Given the description of an element on the screen output the (x, y) to click on. 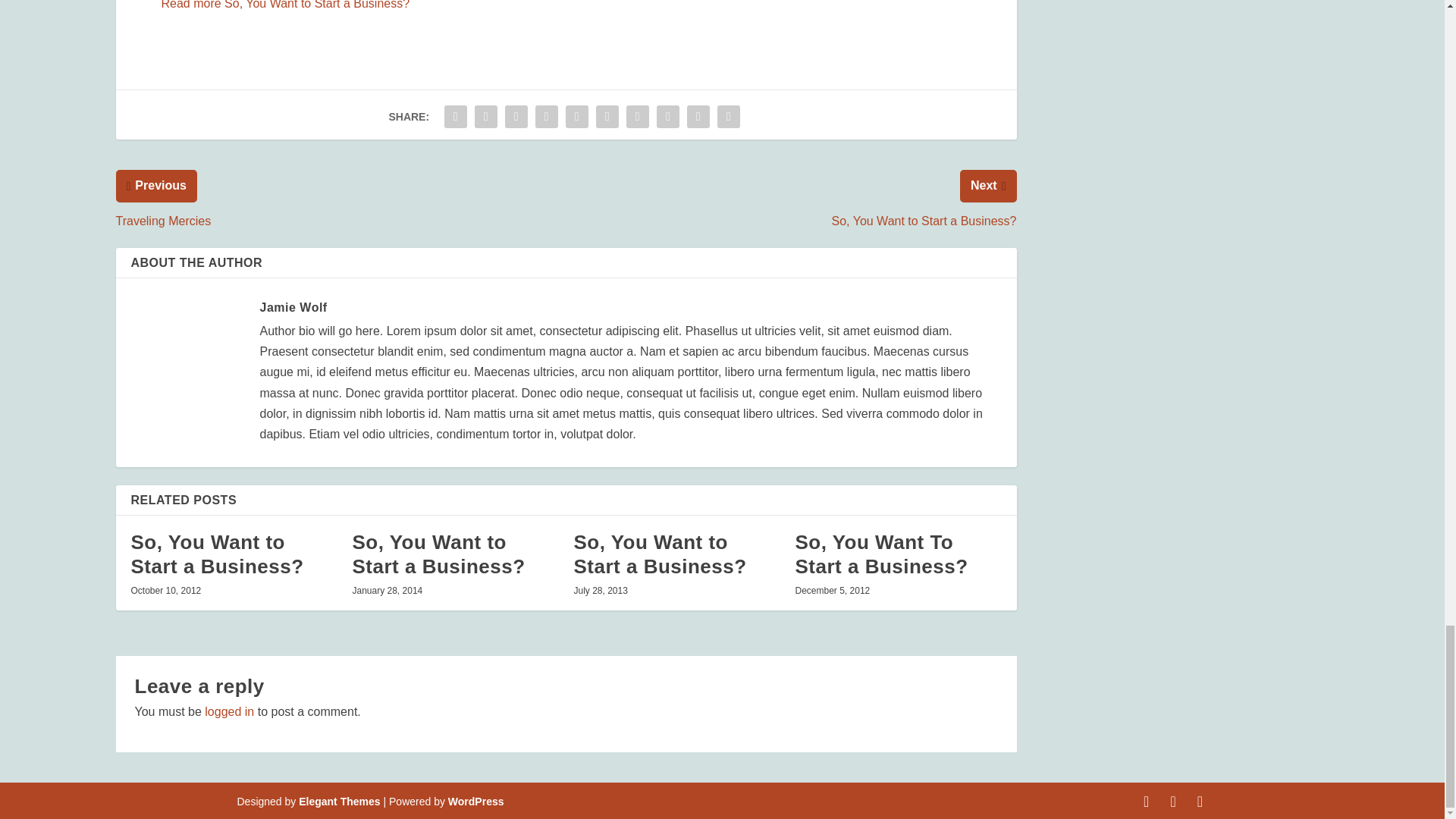
Share "So, You Want to Start A Business?" via Pinterest (577, 116)
Share "So, You Want to Start A Business?" via LinkedIn (607, 116)
Share "So, You Want to Start A Business?" via Twitter (485, 116)
Share "So, You Want to Start A Business?" via Email (697, 116)
Share "So, You Want to Start A Business?" via Stumbleupon (667, 116)
Read more So, You Want to Start a Business? (284, 4)
Share "So, You Want to Start A Business?" via Tumblr (546, 116)
Share "So, You Want to Start A Business?" via Print (728, 116)
Share "So, You Want to Start A Business?" via Buffer (637, 116)
Share "So, You Want to Start A Business?" via Facebook (455, 116)
